Given the description of an element on the screen output the (x, y) to click on. 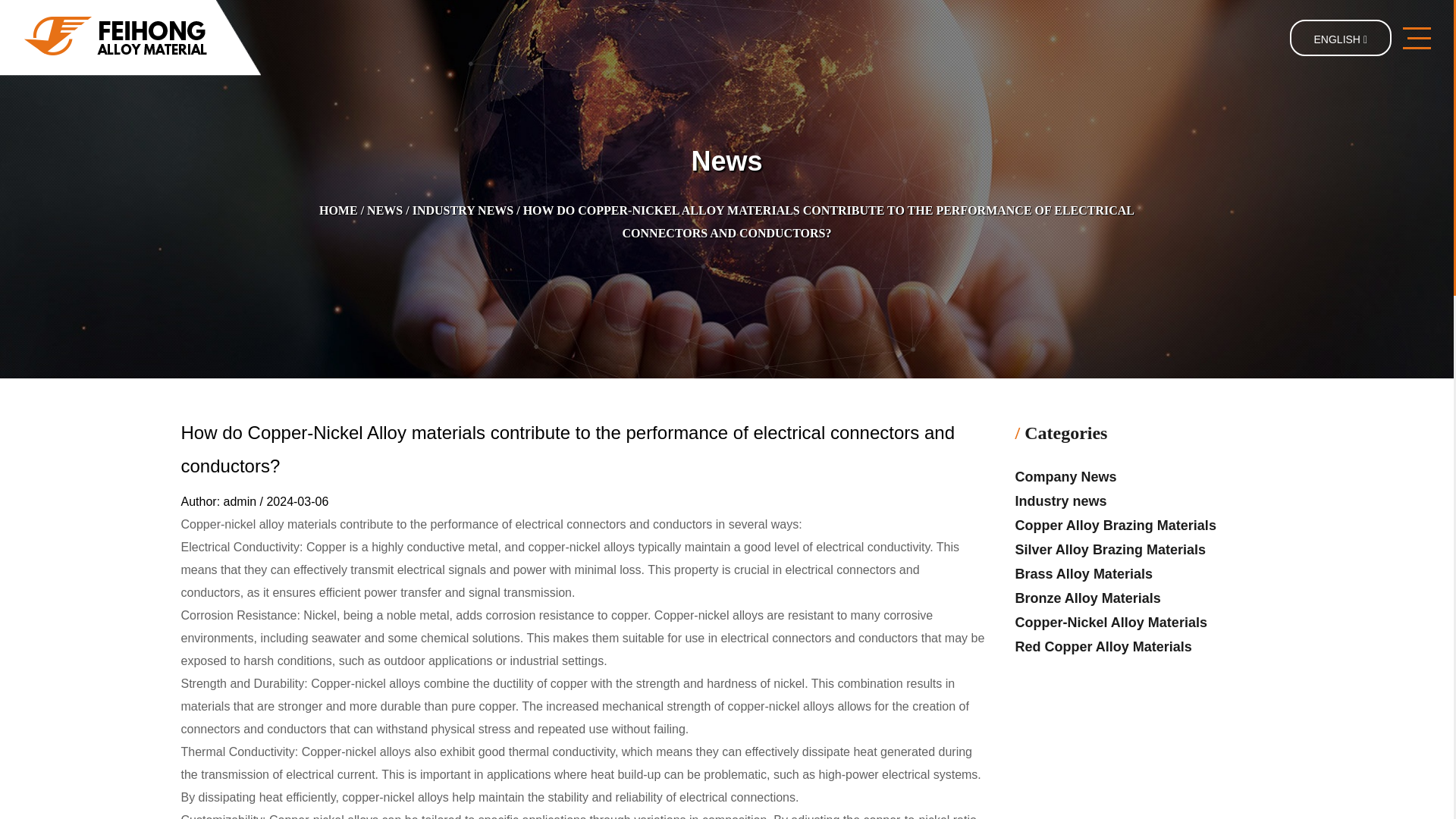
Ningbo Feihong Alloy Material Co., Ltd. (130, 38)
